Given the description of an element on the screen output the (x, y) to click on. 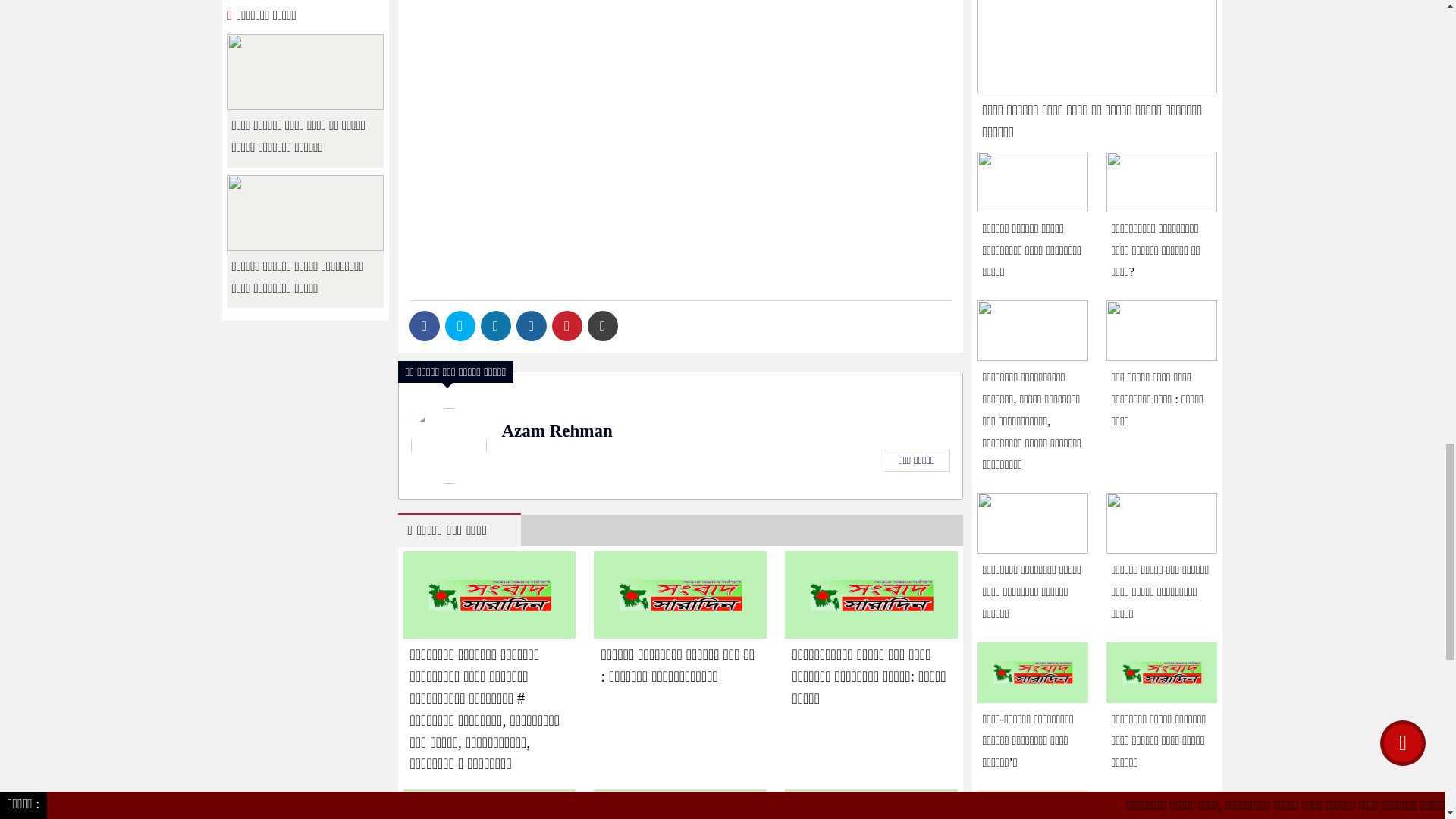
Facebook (424, 326)
